Given the description of an element on the screen output the (x, y) to click on. 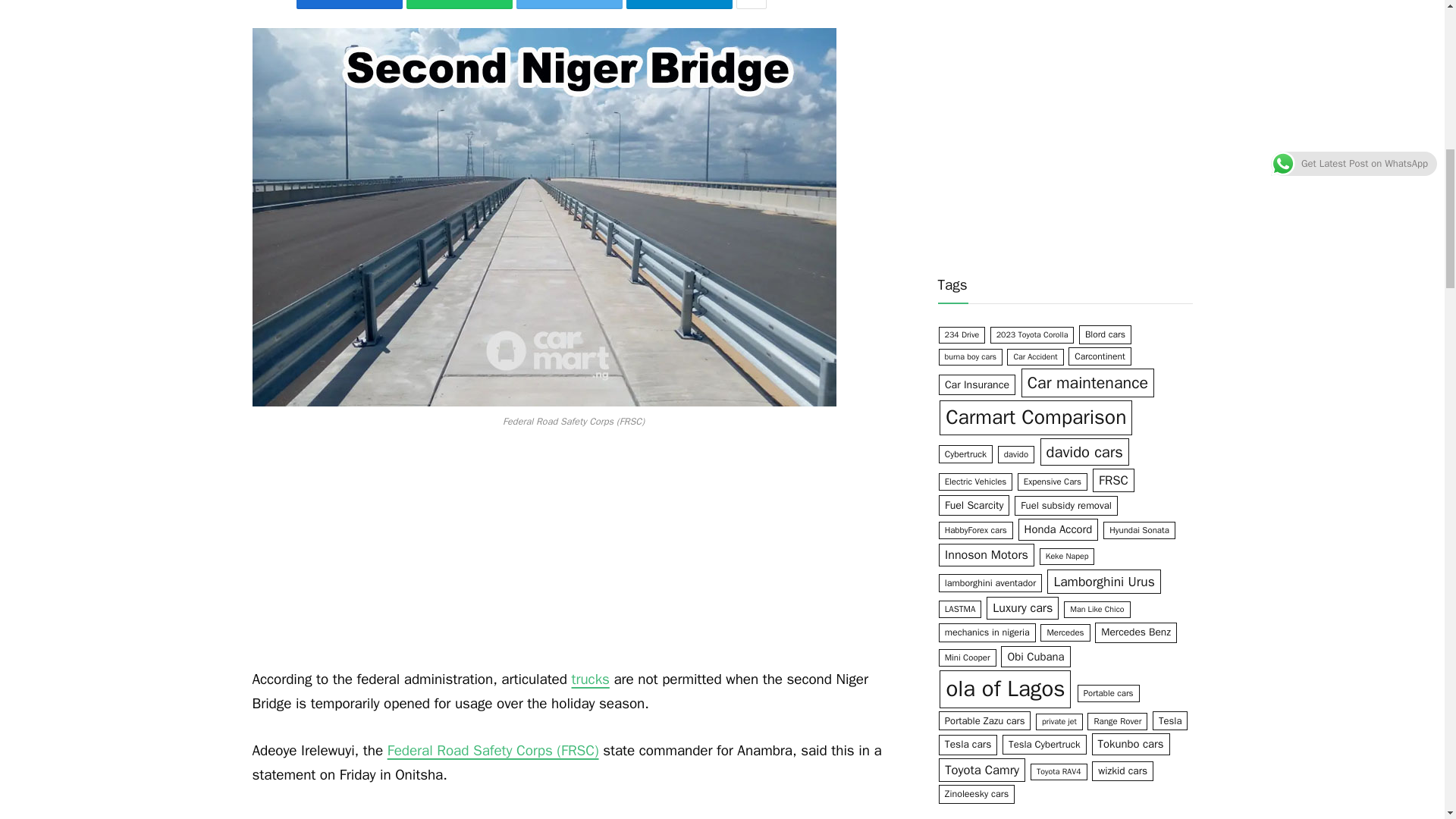
Share on WhatsApp (459, 4)
Share on Telegram (679, 4)
Share on Facebook (350, 4)
